Given the description of an element on the screen output the (x, y) to click on. 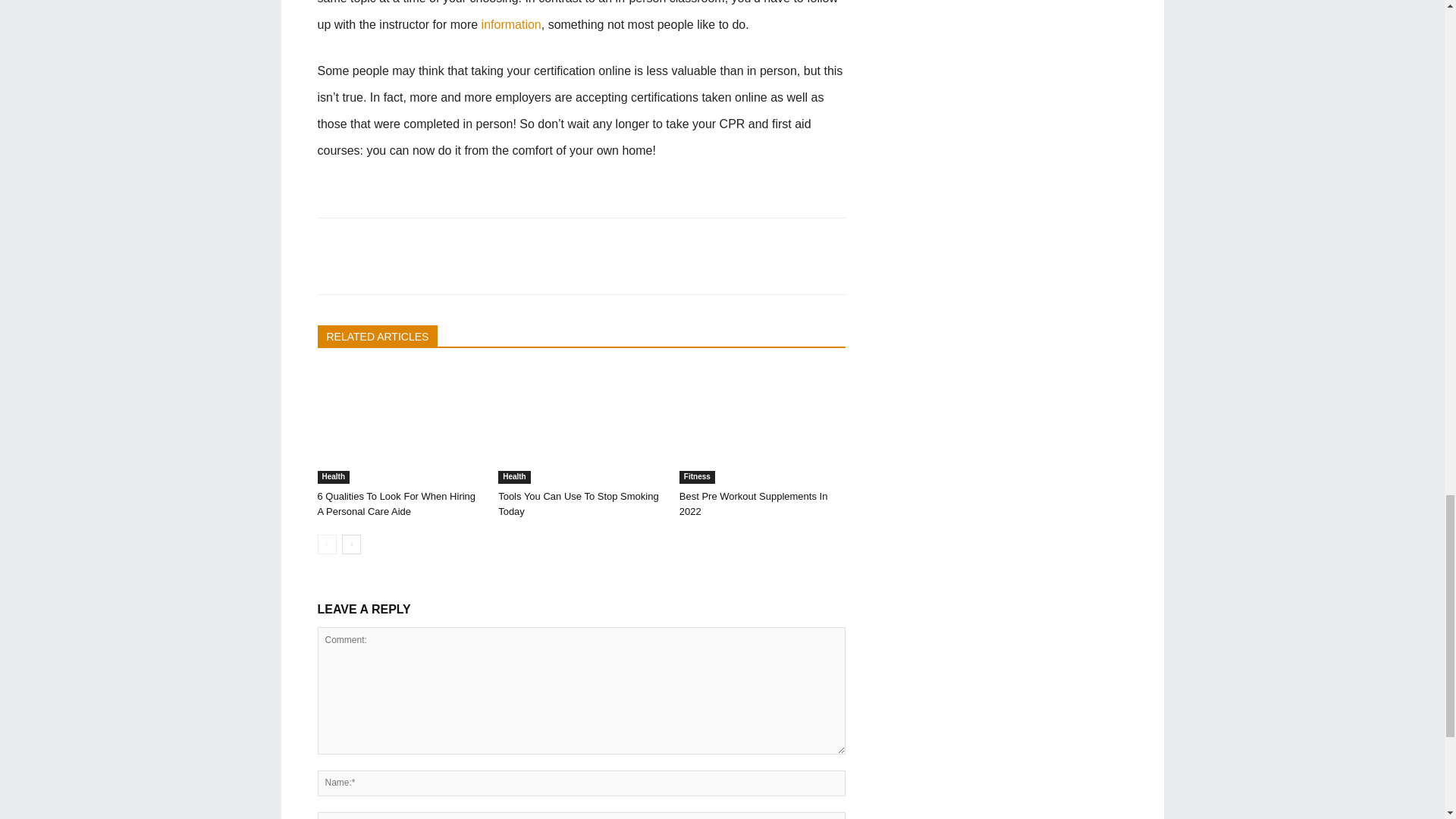
information (511, 24)
Health (333, 477)
